Given the description of an element on the screen output the (x, y) to click on. 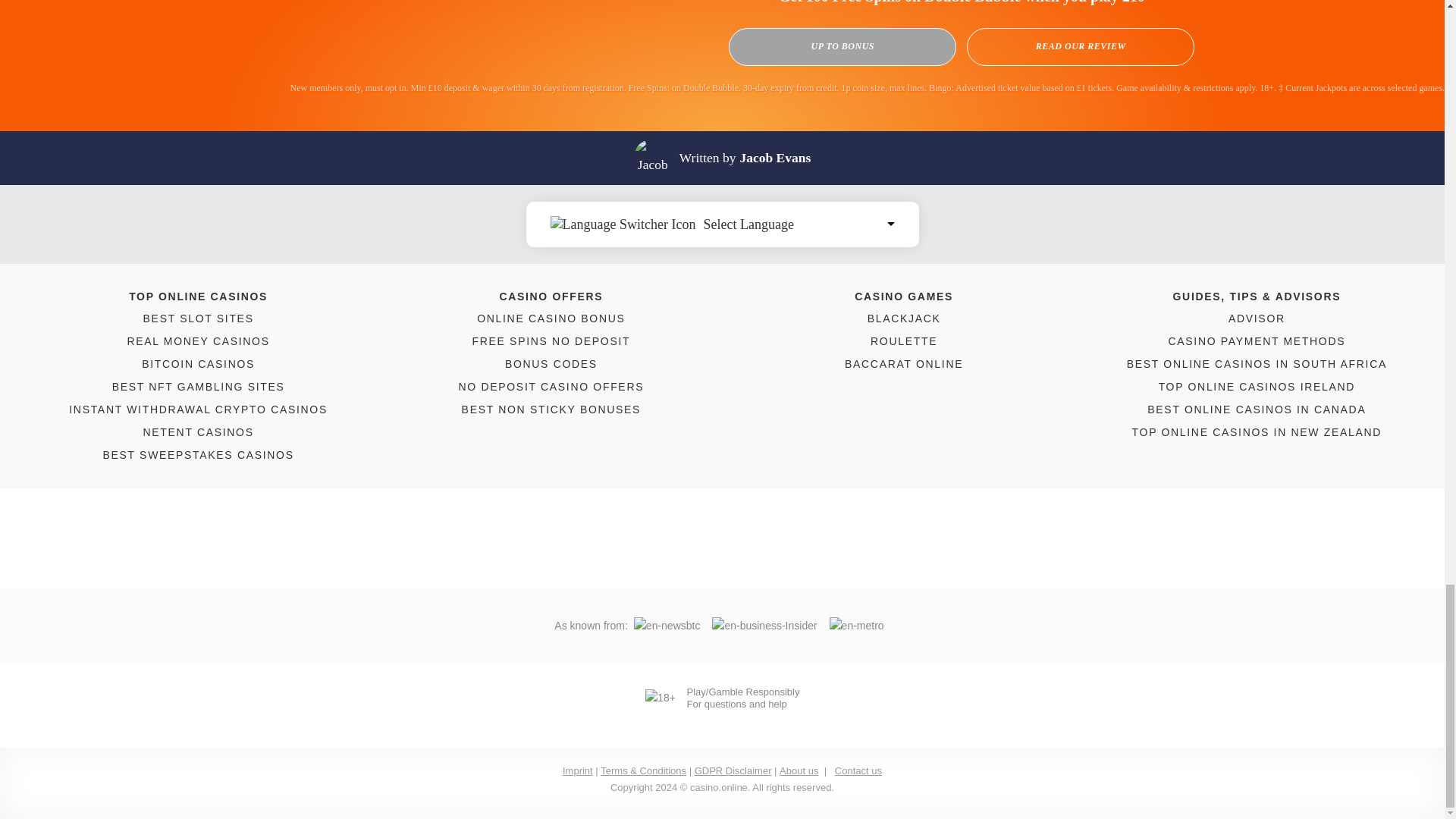
Gamble Aware Logo (730, 715)
